Given the description of an element on the screen output the (x, y) to click on. 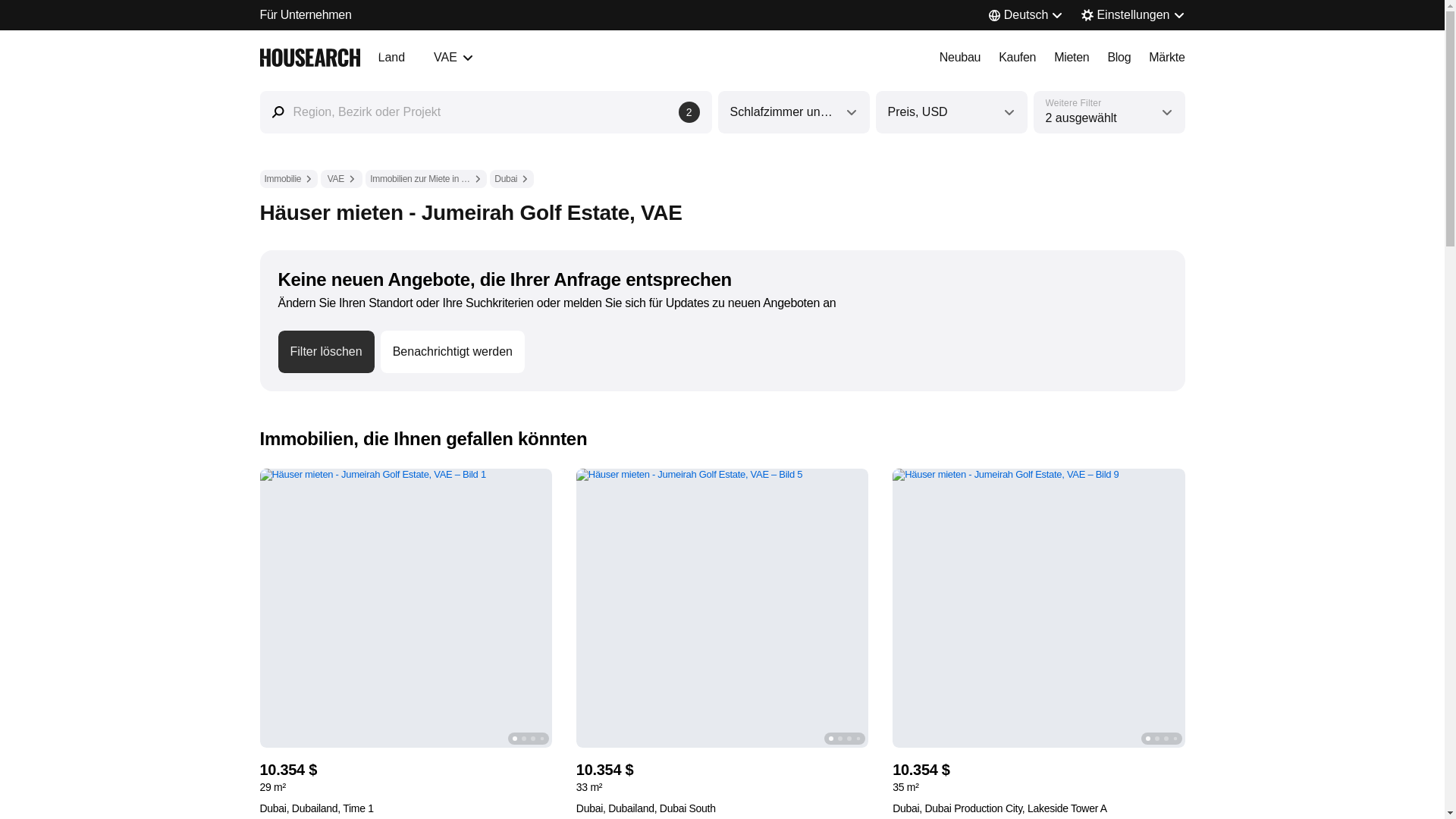
Schlafzimmer und Badezimmer (793, 111)
Immobilien zur Miete in den VAE (425, 178)
Mieten (1071, 57)
Einstellungen (1133, 14)
Dubai (511, 178)
VAE (341, 178)
Immobilie (288, 178)
Deutsch (1026, 14)
Blog (425, 57)
Kaufen (1118, 57)
Neubau (1016, 57)
Preis, USD (959, 57)
Benachrichtigt werden (950, 111)
